Given the description of an element on the screen output the (x, y) to click on. 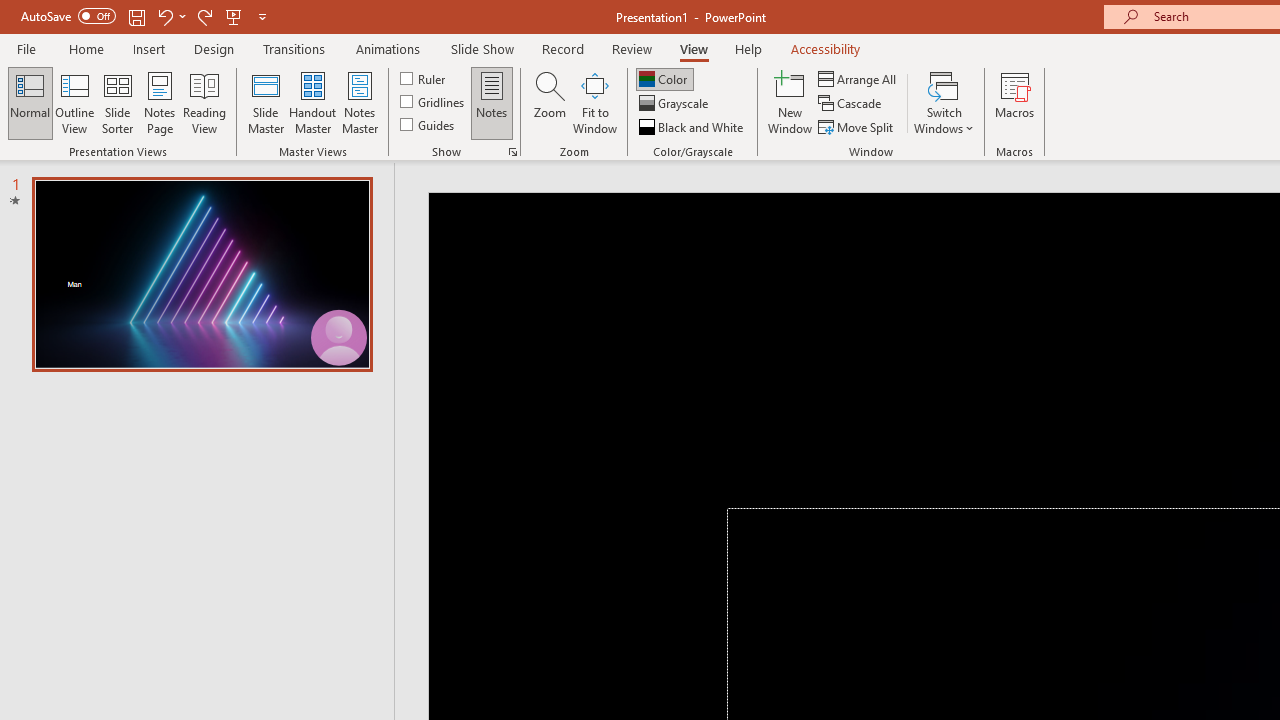
Notes Page (159, 102)
New Window (790, 102)
Notes (492, 102)
Gridlines (433, 101)
Guides (428, 124)
Zoom... (549, 102)
Switch Windows (943, 102)
